Given the description of an element on the screen output the (x, y) to click on. 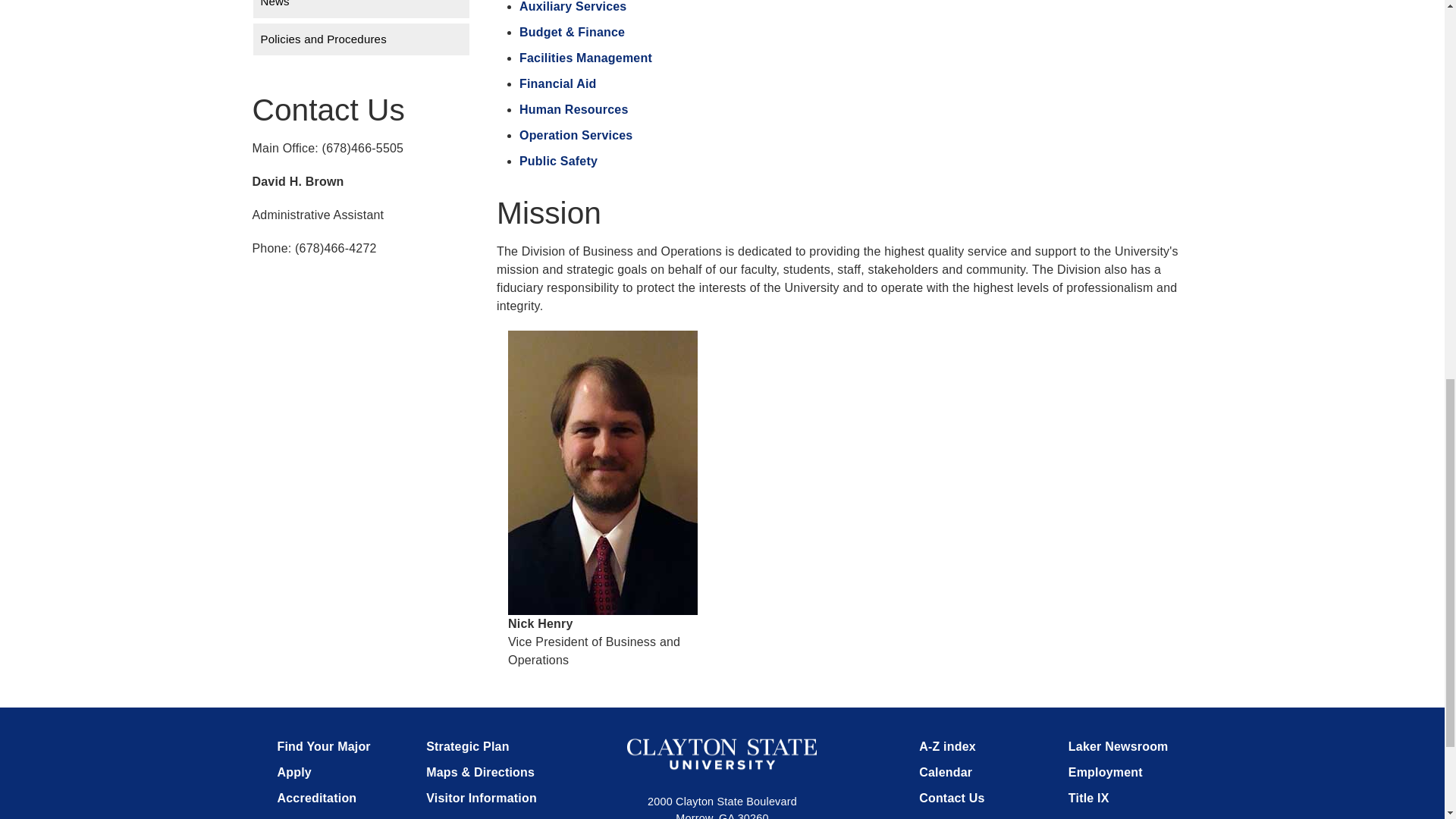
Clayton State (721, 753)
